Given the description of an element on the screen output the (x, y) to click on. 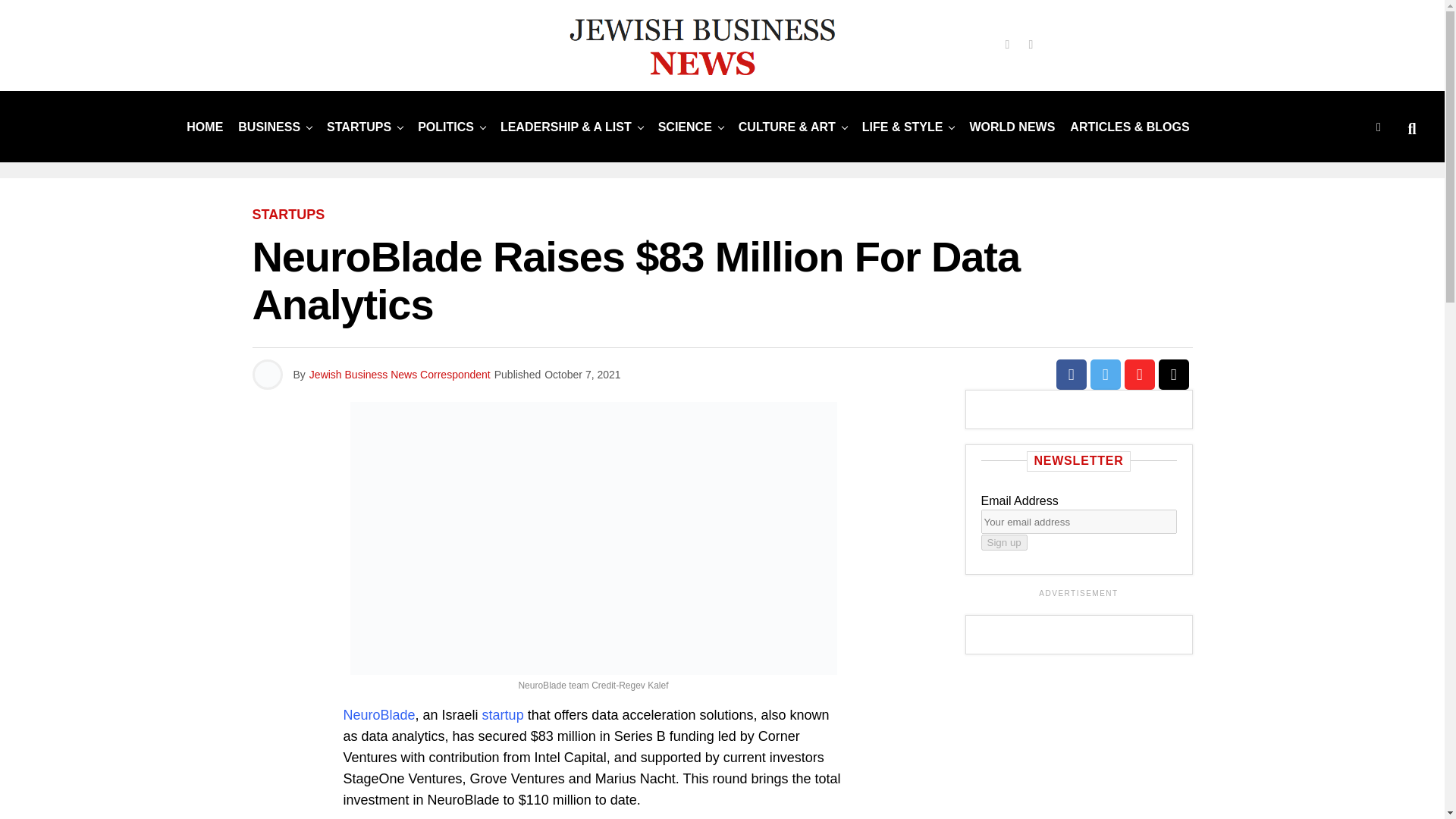
Share on Facebook (1070, 374)
Share on Flipboard (1139, 374)
Tweet This Post (1105, 374)
Posts by Jewish Business News Correspondent (399, 374)
New Research (684, 126)
Sign up (1004, 542)
